Given the description of an element on the screen output the (x, y) to click on. 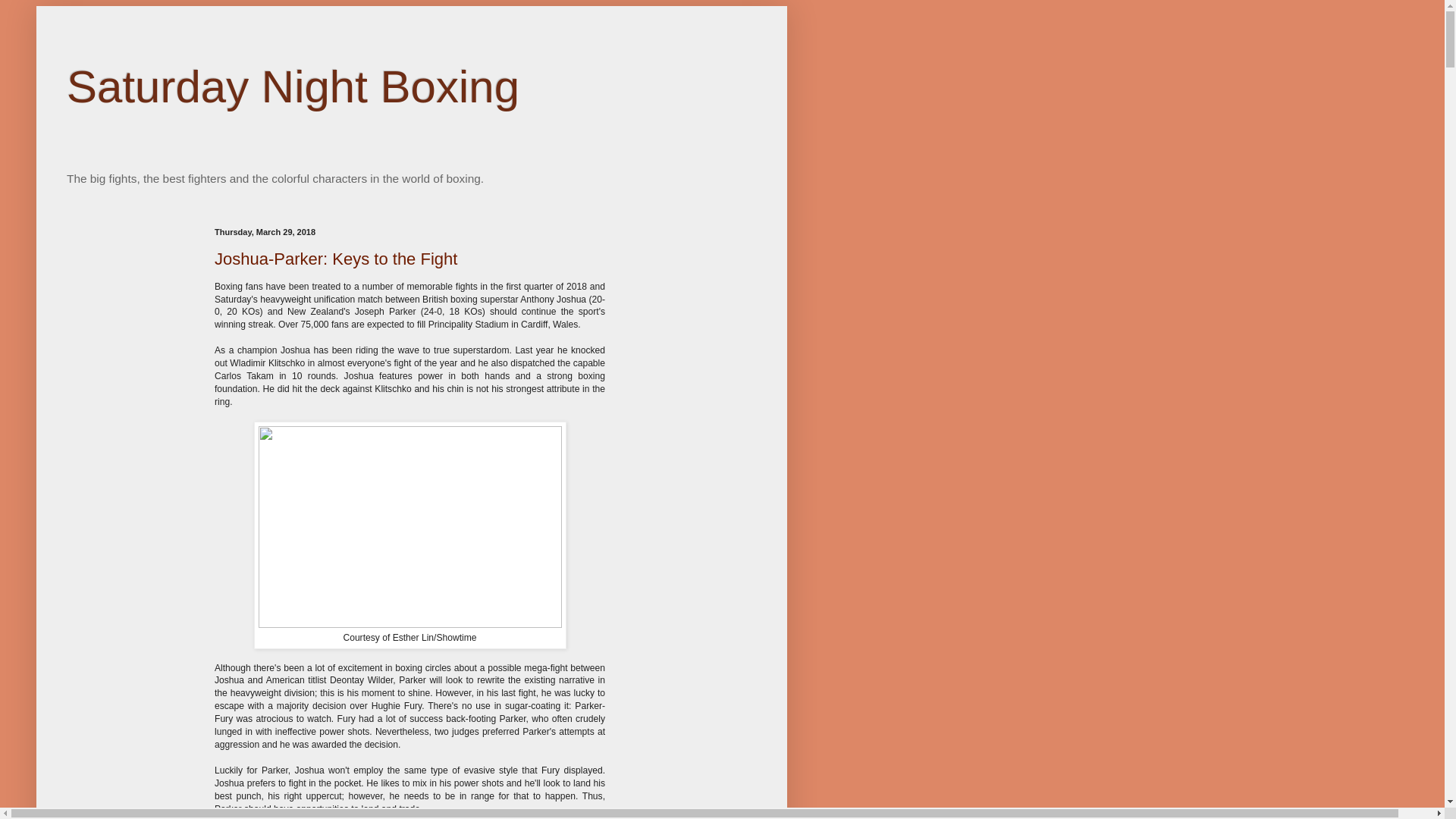
Saturday Night Boxing (292, 86)
Joshua-Parker: Keys to the Fight (335, 258)
